Given the description of an element on the screen output the (x, y) to click on. 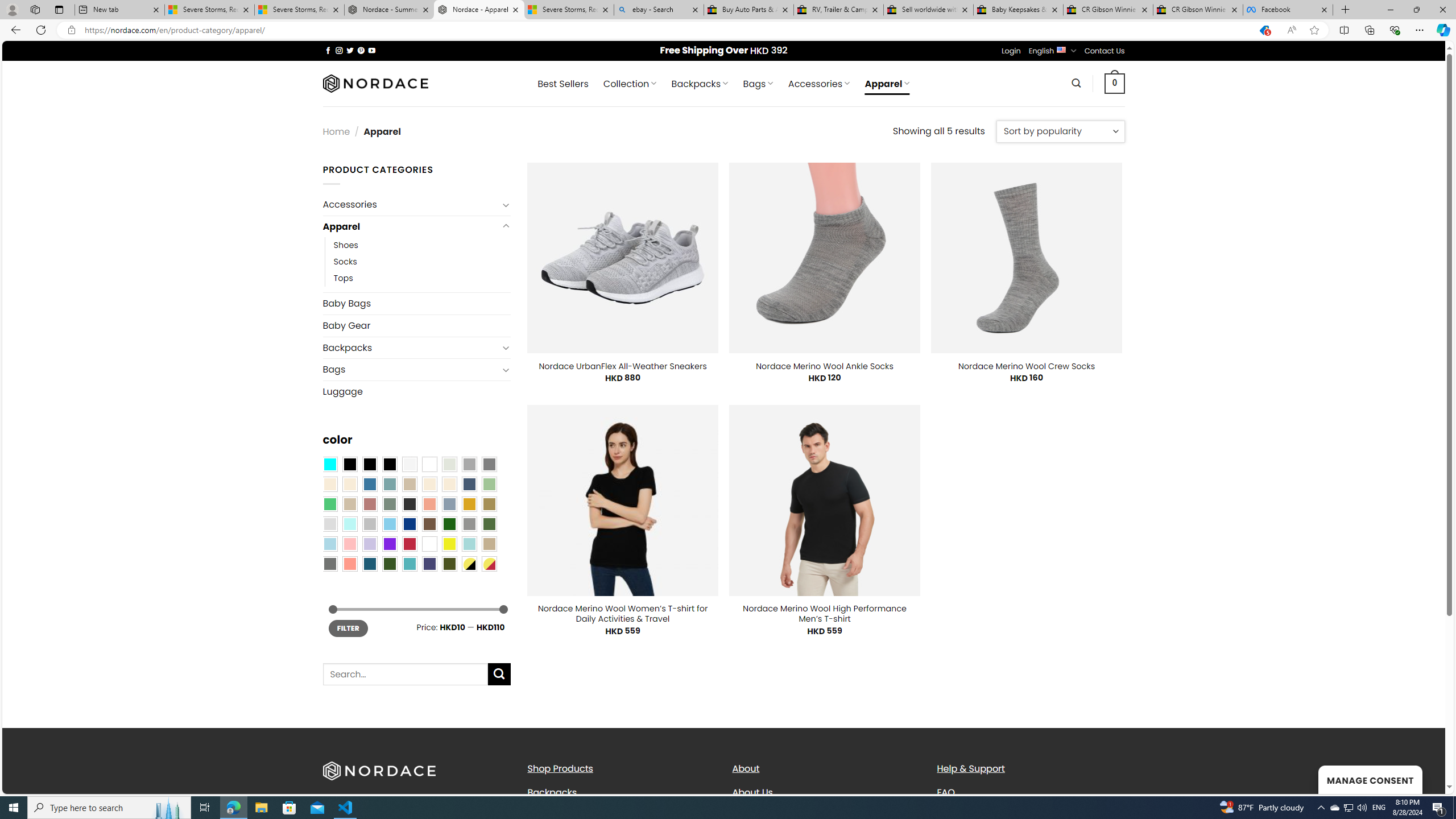
Navy Blue (408, 523)
Contact Us (1104, 50)
Hale Navy (468, 483)
Baby Gear (416, 325)
Charcoal (408, 503)
